Given the description of an element on the screen output the (x, y) to click on. 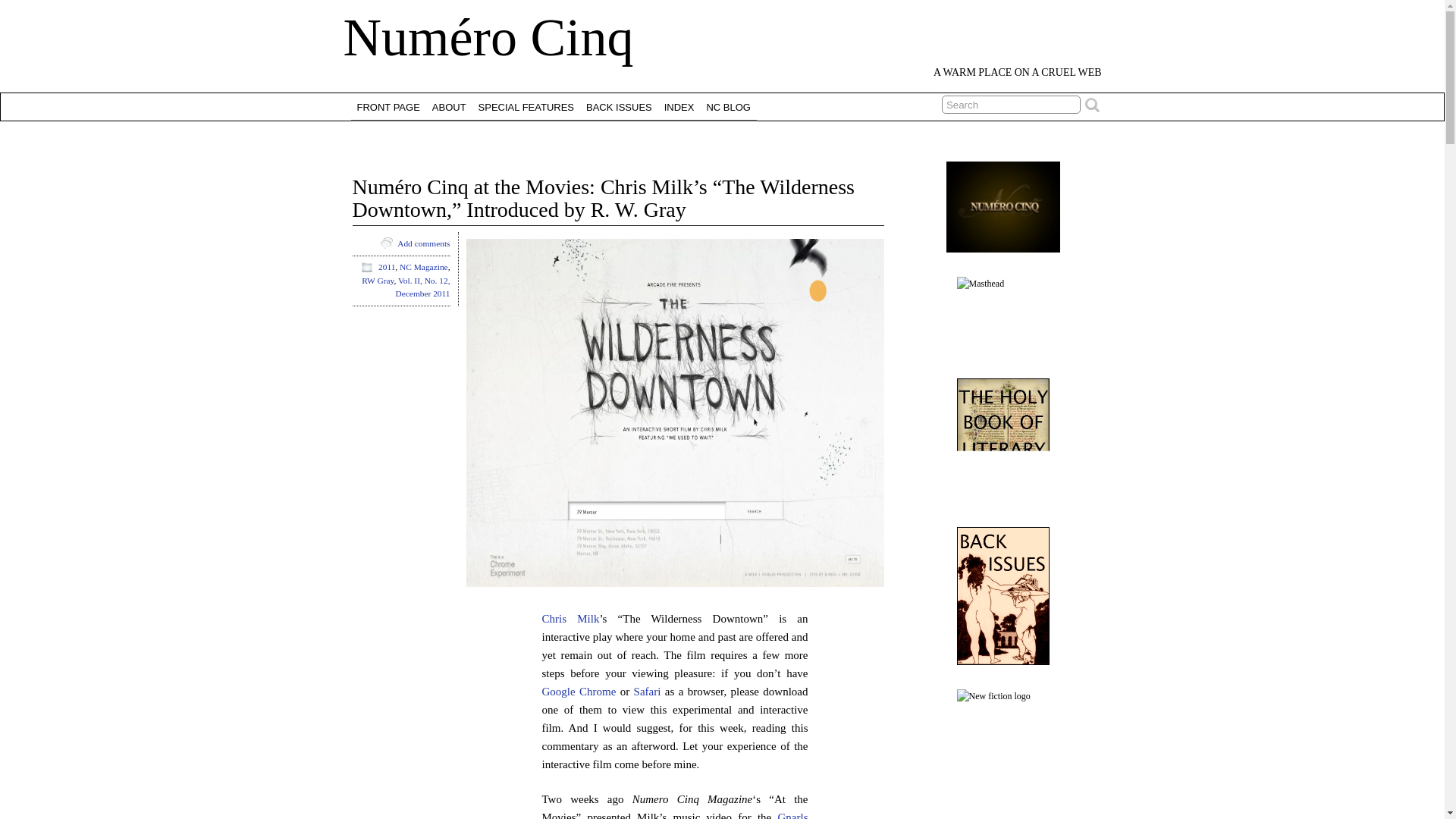
FRONT PAGE (387, 106)
NC BLOG (728, 106)
ABOUT (448, 106)
BACK ISSUES (618, 106)
SPECIAL FEATURES (525, 106)
INDEX (679, 106)
Search (1011, 104)
Search (1011, 104)
